Given the description of an element on the screen output the (x, y) to click on. 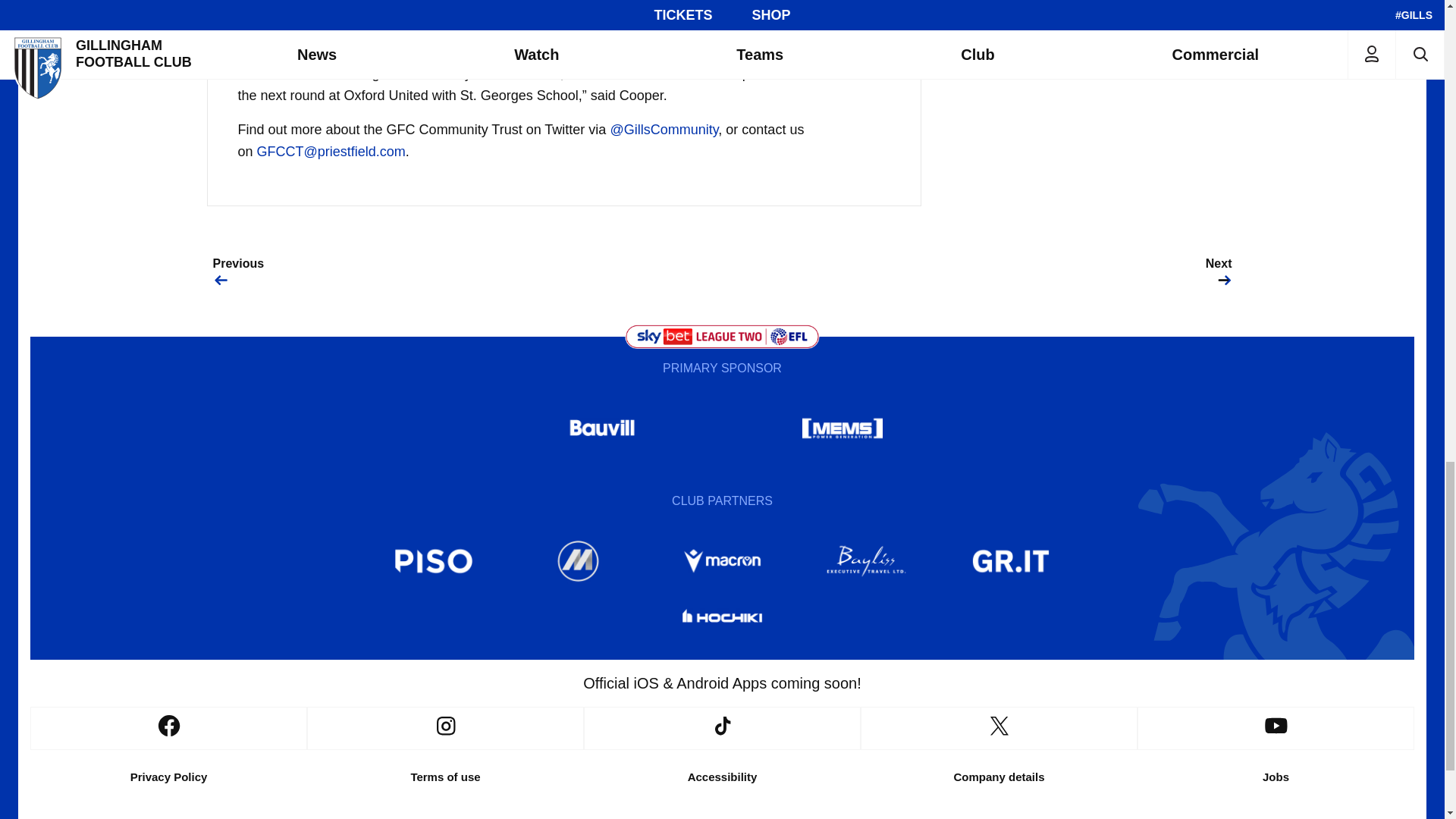
MEMS Power Generation (841, 428)
Magnus Search Recruitment (577, 560)
Hochiki (720, 618)
Bauvill (601, 428)
Macron (720, 560)
Bayliss (866, 560)
PISO (433, 560)
GRIT (1010, 560)
